Given the description of an element on the screen output the (x, y) to click on. 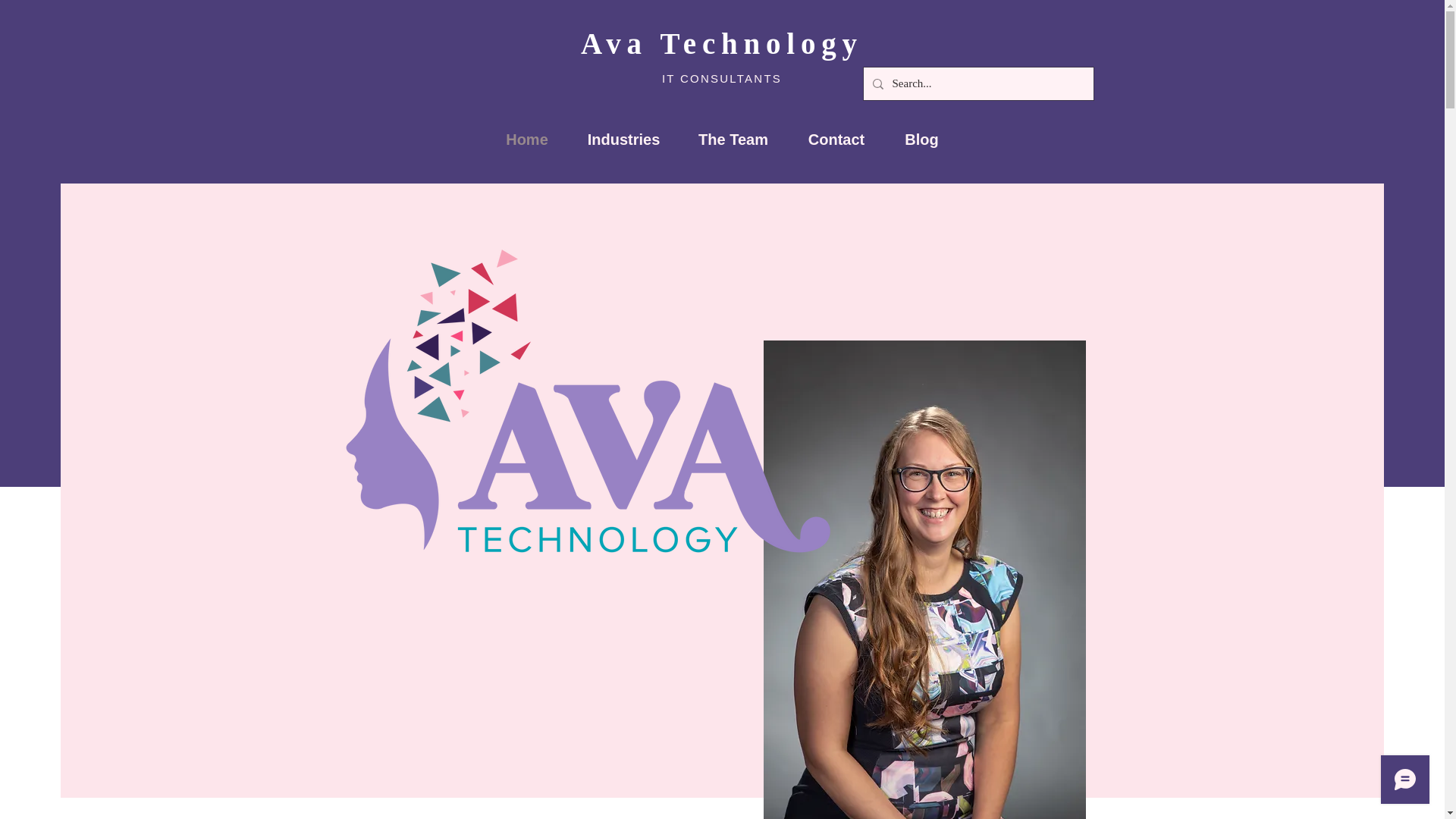
The Team (732, 139)
Home (526, 139)
Ava Technology (721, 43)
Blog (920, 139)
Contact (837, 139)
Industries (623, 139)
IT CONSULTANTS (721, 78)
